Given the description of an element on the screen output the (x, y) to click on. 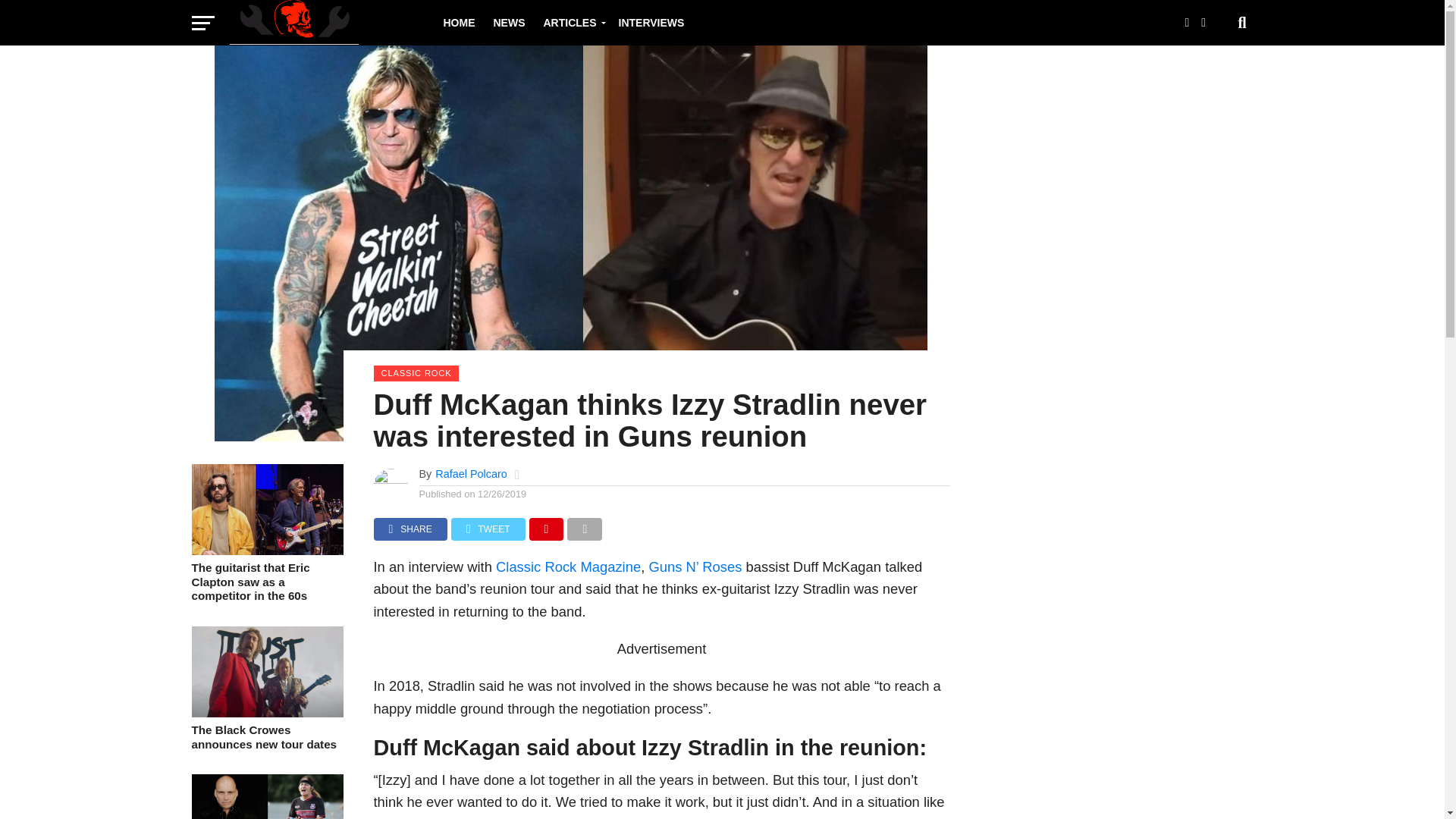
ARTICLES (571, 22)
HOME (458, 22)
INTERVIEWS (652, 22)
Posts by Rafael Polcaro (470, 473)
NEWS (508, 22)
The Black Crowes announces new tour dates (266, 737)
The Black Crowes announces new tour dates (266, 712)
